Given the description of an element on the screen output the (x, y) to click on. 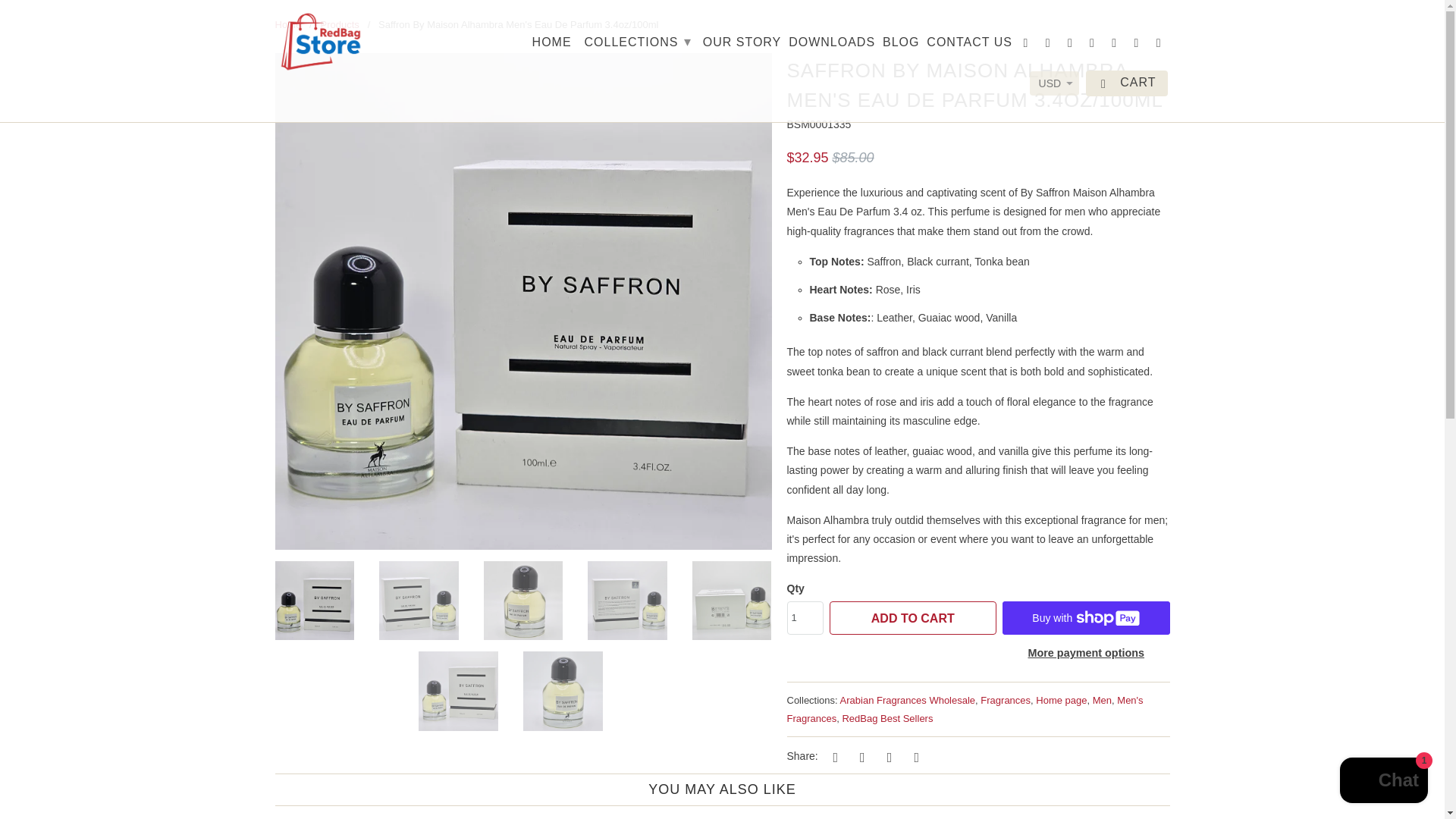
Redbagstores (288, 24)
Redbagstores (320, 41)
HOME (552, 45)
Products (339, 24)
1 (805, 617)
